Given the description of an element on the screen output the (x, y) to click on. 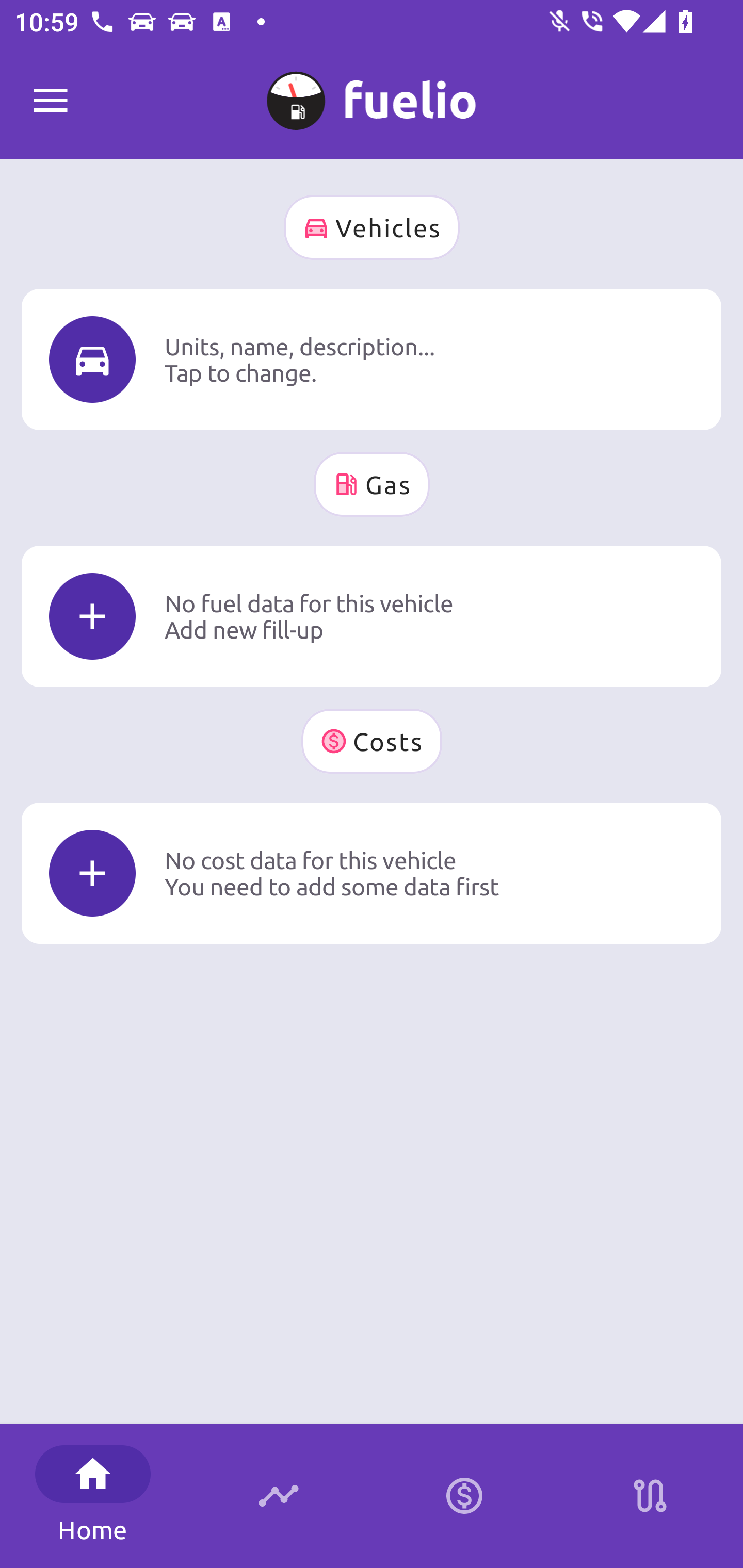
M My Car 0 km (371, 92)
Fuelio (50, 101)
Vehicles (371, 227)
Icon Units, name, description...
Tap to change. (371, 358)
Icon (92, 359)
Gas (371, 484)
Icon No fuel data for this vehicle
Add new fill-up (371, 615)
Icon (92, 616)
Costs (371, 740)
Icon (92, 873)
Timeline (278, 1495)
Calculator (464, 1495)
Stations on route (650, 1495)
